Given the description of an element on the screen output the (x, y) to click on. 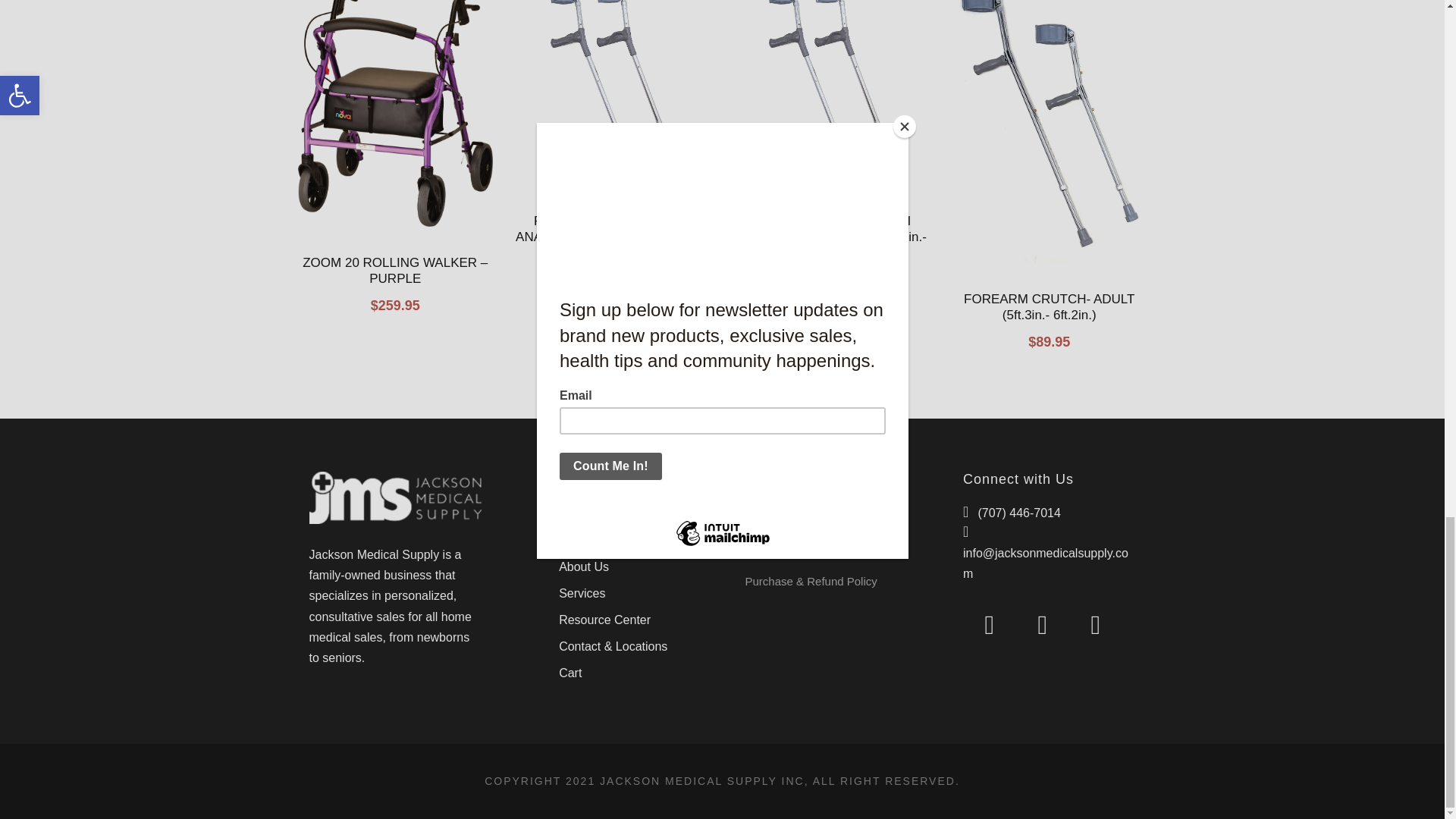
7741P.jpg (613, 92)
7740P.jpg (831, 92)
